Given the description of an element on the screen output the (x, y) to click on. 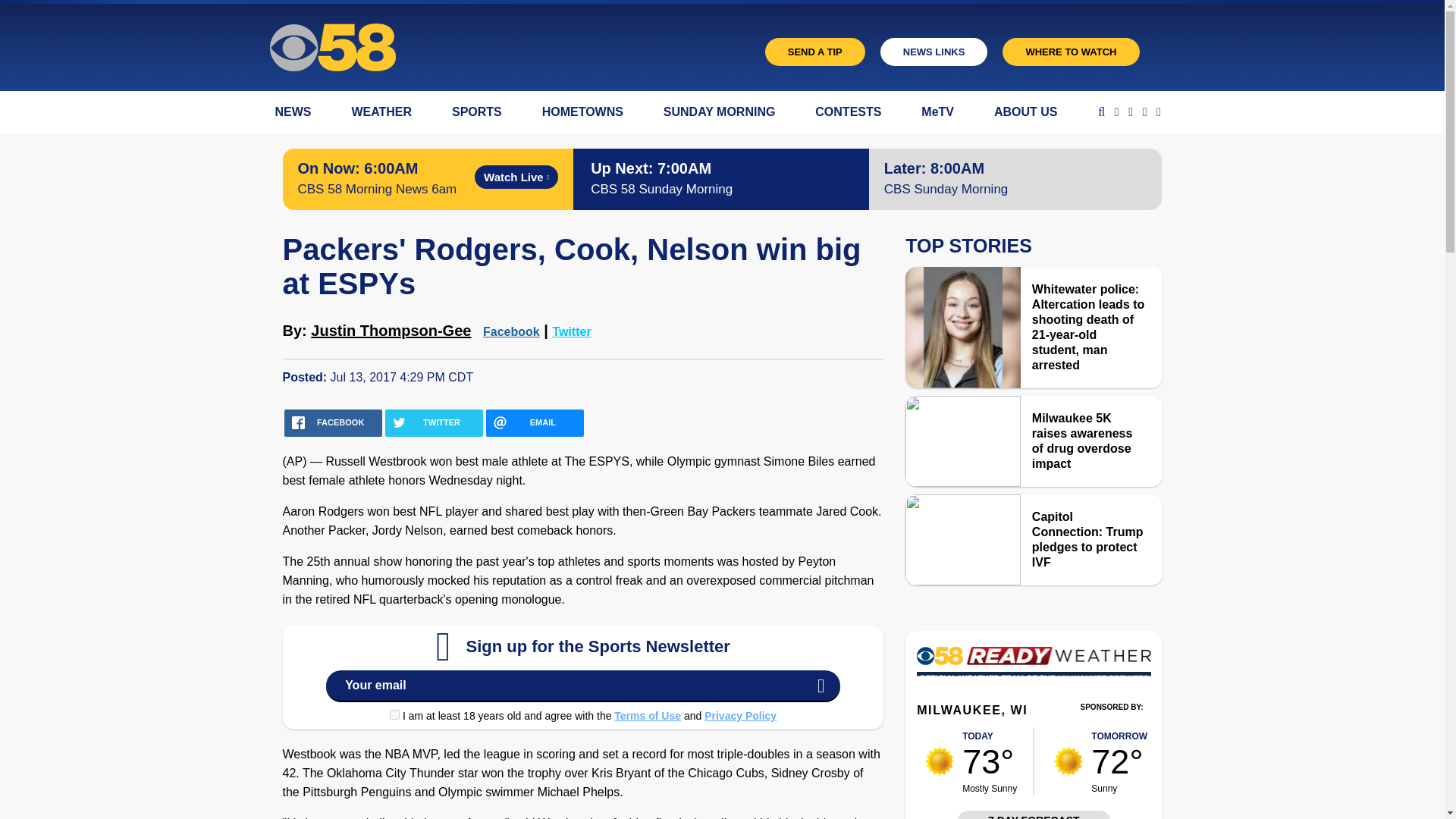
weather (1067, 761)
weather (939, 761)
Weather (1033, 670)
on (394, 714)
